Given the description of an element on the screen output the (x, y) to click on. 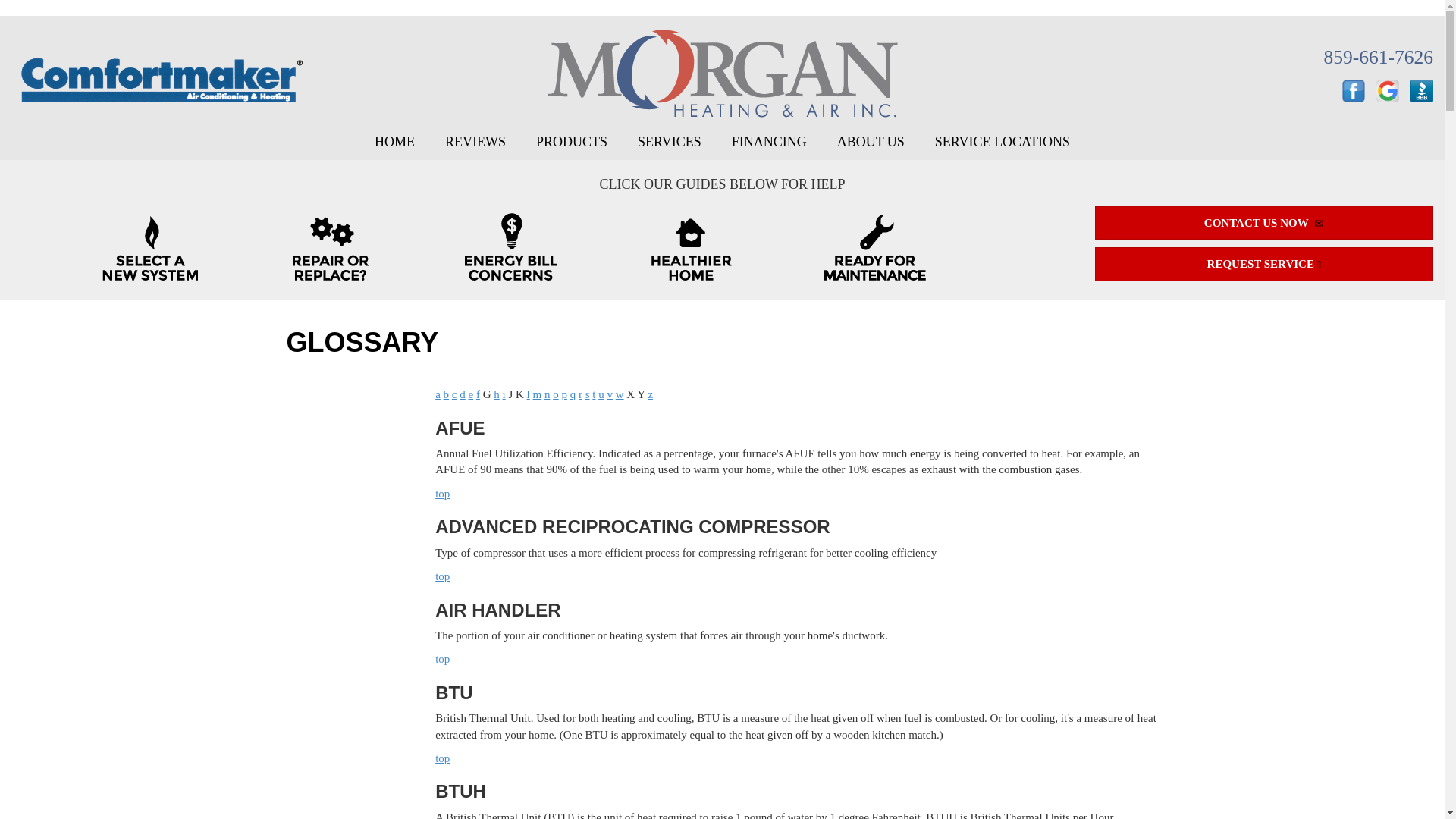
FINANCING (769, 142)
HOME (394, 142)
SERVICES (669, 142)
PRODUCTS (572, 142)
859-661-7626 (1377, 56)
ABOUT US (871, 142)
REVIEWS (475, 142)
